Given the description of an element on the screen output the (x, y) to click on. 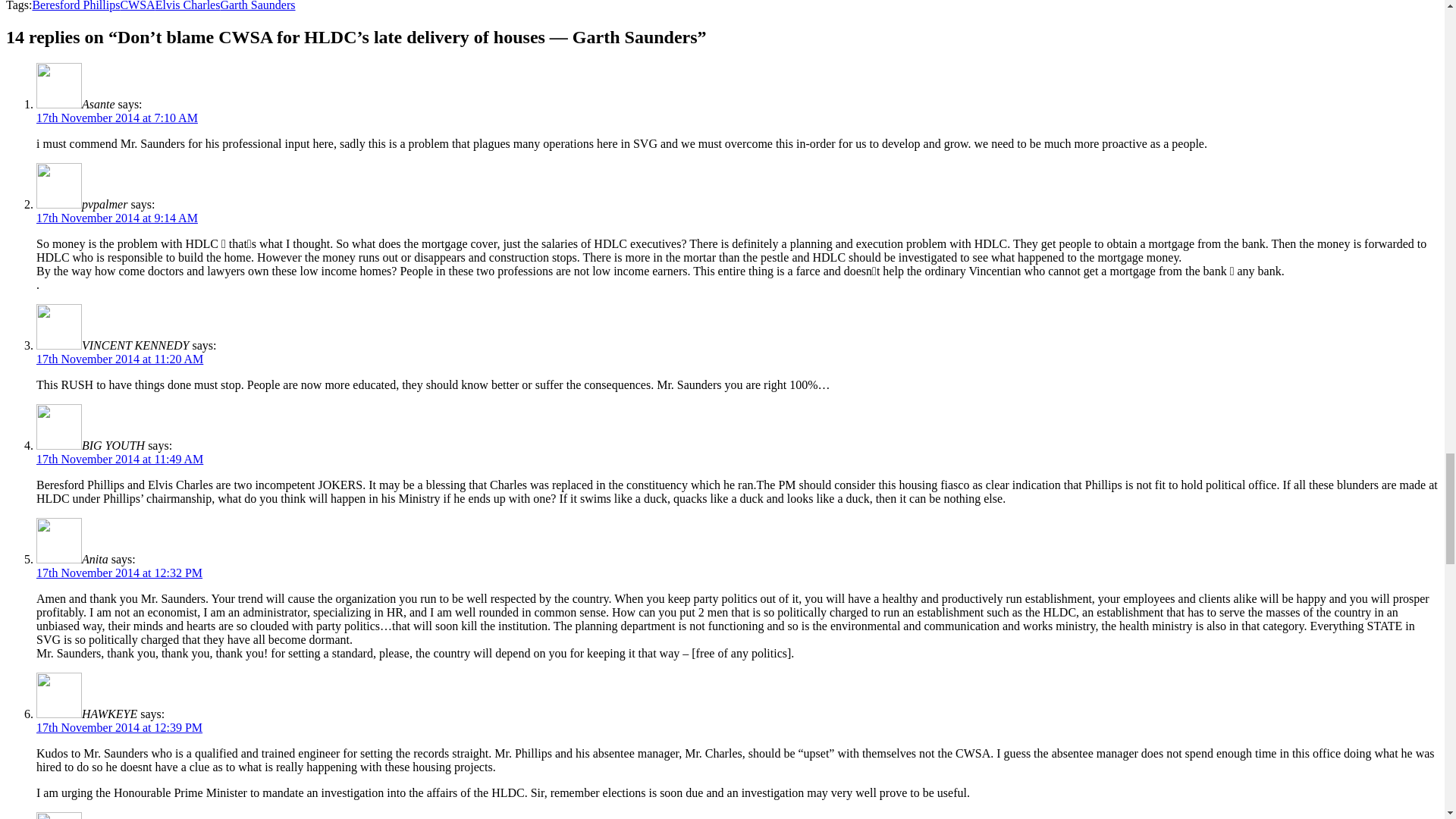
17th November 2014 at 11:20 AM (119, 358)
17th November 2014 at 7:10 AM (117, 117)
17th November 2014 at 9:14 AM (117, 217)
17th November 2014 at 11:49 AM (119, 459)
17th November 2014 at 12:32 PM (119, 572)
17th November 2014 at 12:39 PM (119, 727)
